Given the description of an element on the screen output the (x, y) to click on. 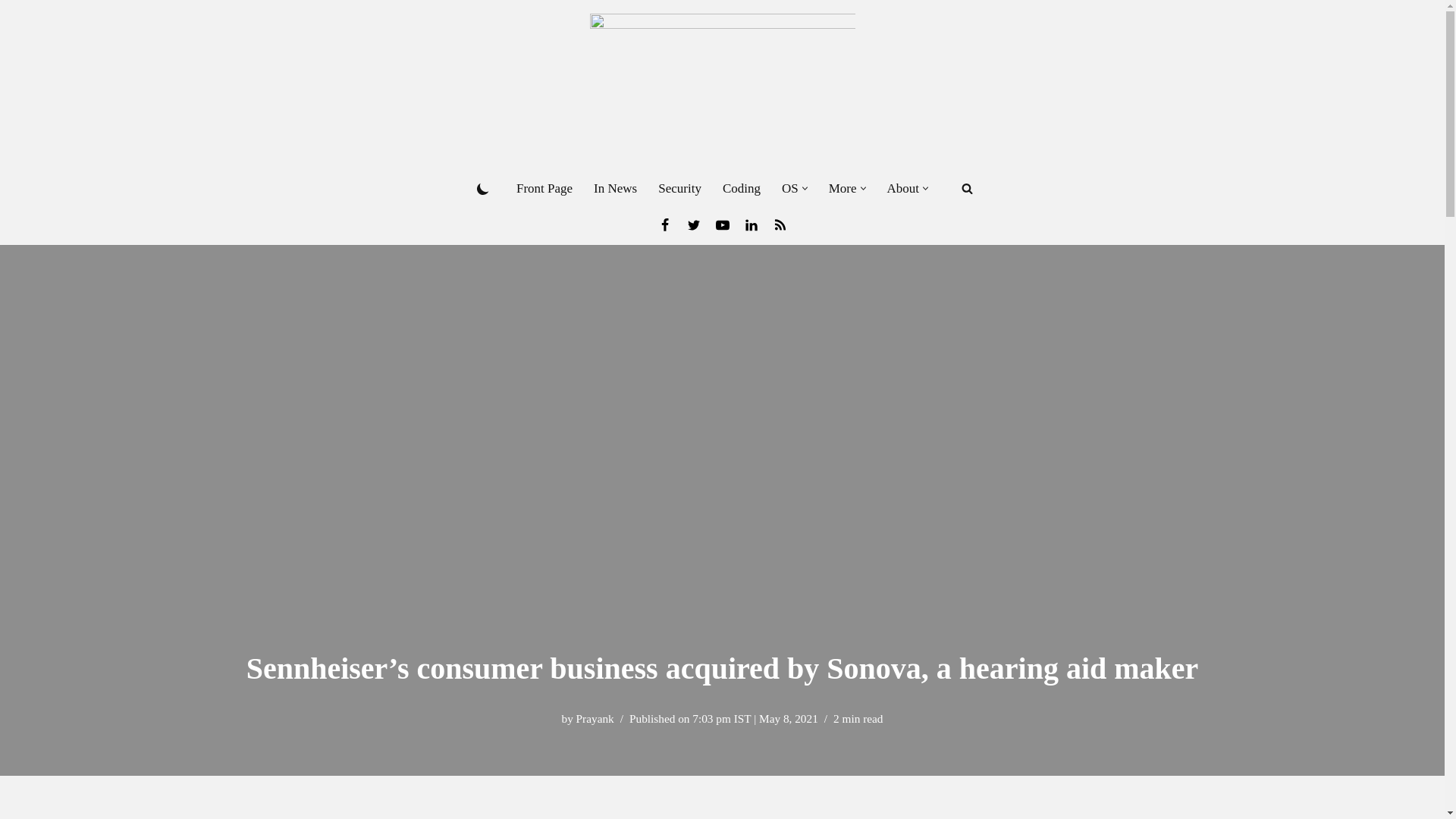
Linkedin (750, 224)
Skip to content (11, 31)
In News (615, 188)
More (842, 188)
News (779, 224)
About (903, 188)
Facebook (664, 224)
Youtube (721, 224)
Coding (741, 188)
Front Page (544, 188)
